Given the description of an element on the screen output the (x, y) to click on. 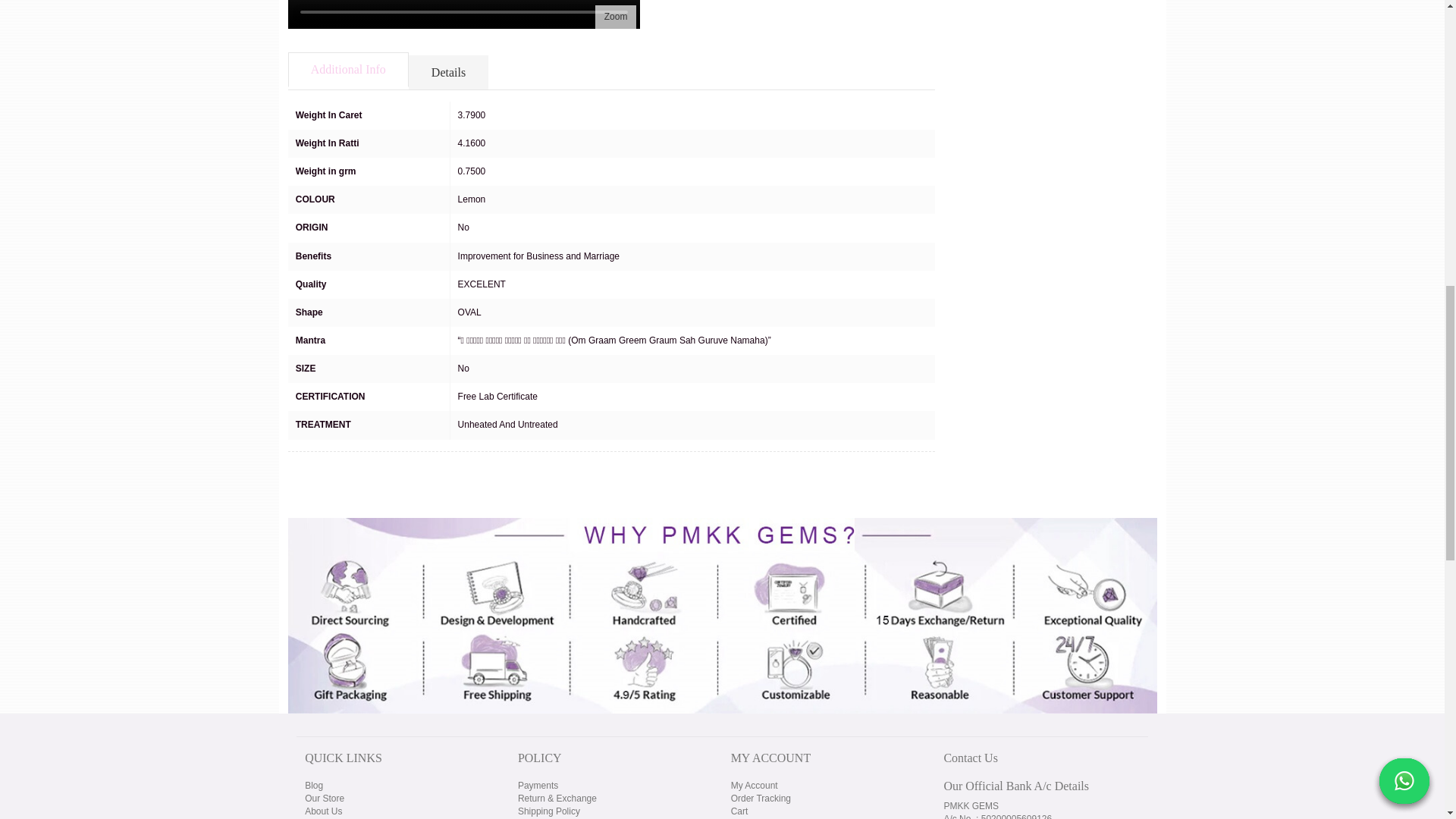
Lemon Topaz (616, 16)
